Given the description of an element on the screen output the (x, y) to click on. 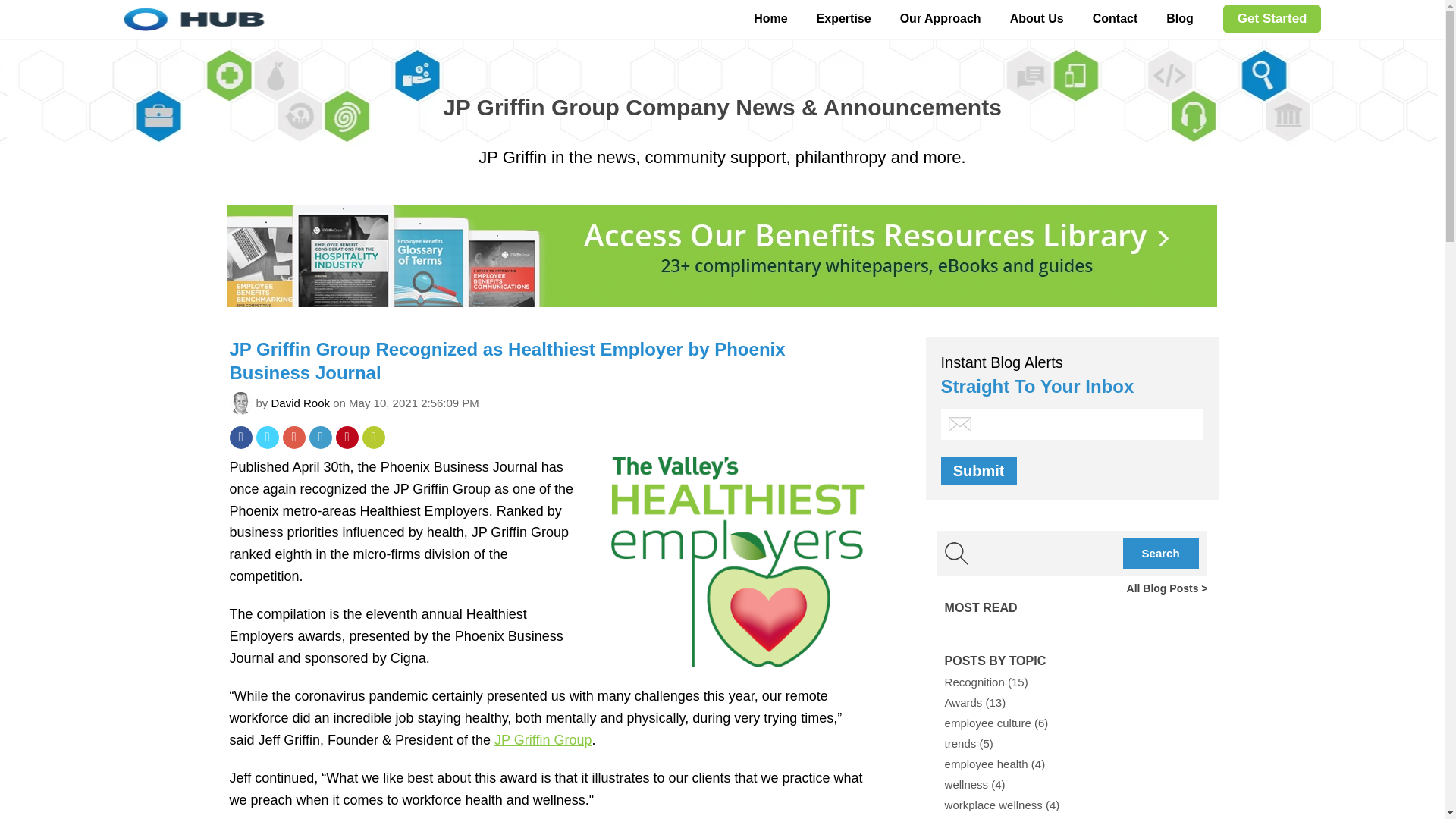
Share this page on LinkedIn (319, 436)
Share this page on Google Plus (293, 436)
David Rook (300, 402)
Contact (1115, 18)
Share this page on Pinterest (346, 436)
Send on this page URL via email (373, 436)
Share this page on Facebook (239, 436)
JP Griffin Group (543, 739)
HUB International Logo (312, 19)
